Given the description of an element on the screen output the (x, y) to click on. 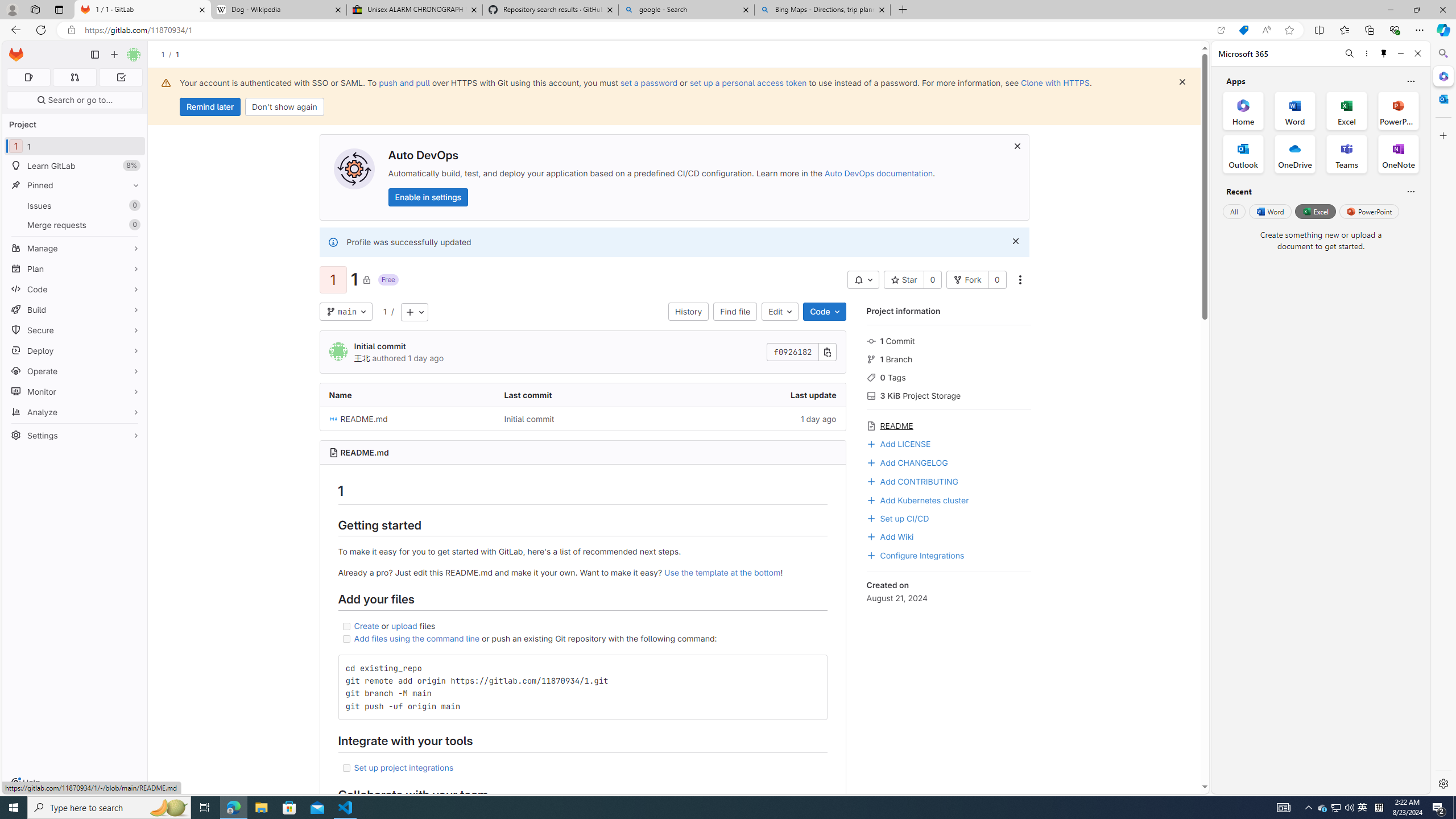
Configure Integrations (914, 554)
README (948, 424)
1 1 (74, 145)
1/ (168, 53)
Class: tree-item (582, 418)
Open in app (1220, 29)
Copy commit SHA (827, 352)
Code (824, 311)
Operate (74, 370)
Secure (74, 330)
Issues 0 (74, 205)
1 Branch (948, 358)
Create (366, 625)
